Given the description of an element on the screen output the (x, y) to click on. 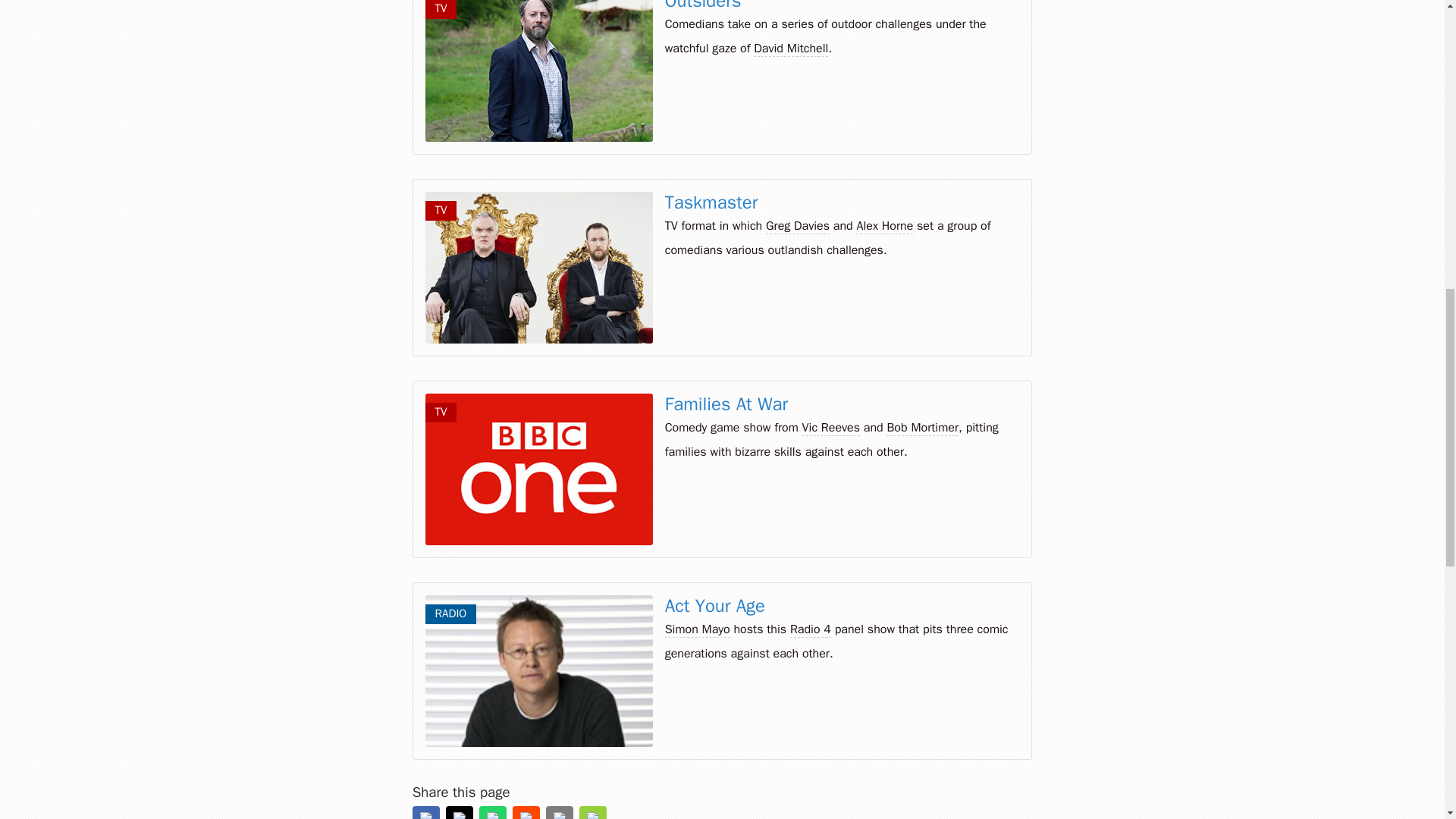
Act Your Age. Simon Mayo. Copyright: BBC (538, 670)
David Mitchell profile (791, 48)
Bob Mortimer profile (922, 427)
Vic Reeves profile (831, 427)
Alex Horne profile (884, 226)
Greg Davies profile (797, 226)
BBC One. Copyright: BBC (538, 469)
Outsiders. David Mitchell. Copyright: Renegade Pictures (538, 70)
